Given the description of an element on the screen output the (x, y) to click on. 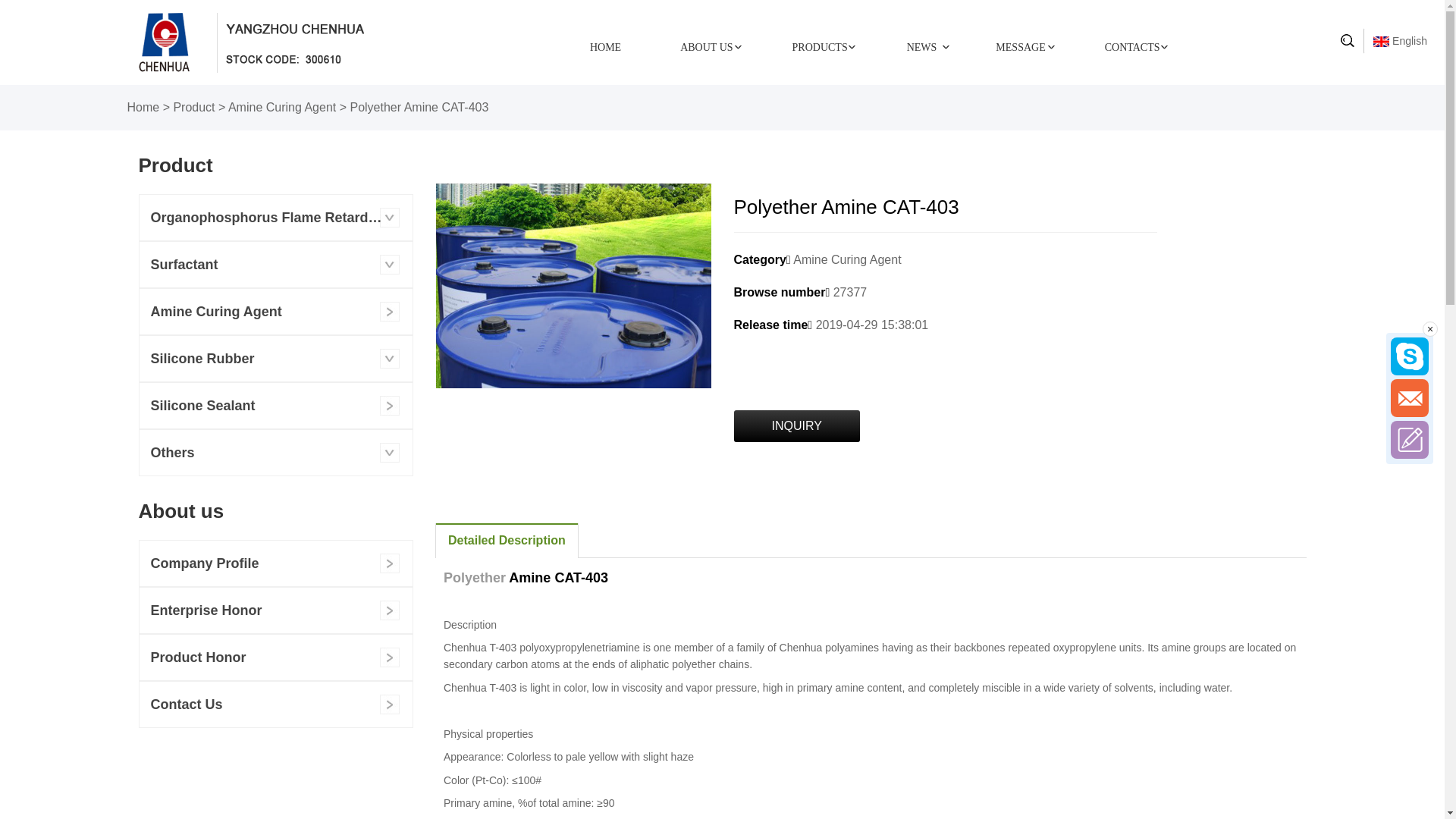
PRODUCTS Element type: text (819, 46)
Product Honor Element type: text (276, 656)
English Element type: text (1400, 40)
Enterprise Honor Element type: text (276, 609)
Contact Us Element type: text (276, 704)
INQUIRY Element type: text (796, 426)
NEWS Element type: text (921, 46)
Amine Curing Agent Element type: text (281, 106)
Silicone Rubber Element type: text (276, 358)
MESSAGE Element type: text (1020, 46)
Surfactant Element type: text (276, 264)
Detailed Description Element type: text (506, 540)
CONTACTS Element type: text (1132, 46)
Organophosphorus Flame Retardants Element type: text (276, 217)
Product Element type: text (193, 106)
English Element type: hover (1381, 41)
HOME Element type: text (605, 46)
Amine Curing Agent Element type: text (276, 311)
Home Element type: text (143, 106)
Others Element type: text (276, 452)
ABOUT US Element type: text (706, 46)
Polyether Element type: text (474, 577)
Company Profile Element type: text (276, 562)
Silicone Sealant Element type: text (276, 405)
